Given the description of an element on the screen output the (x, y) to click on. 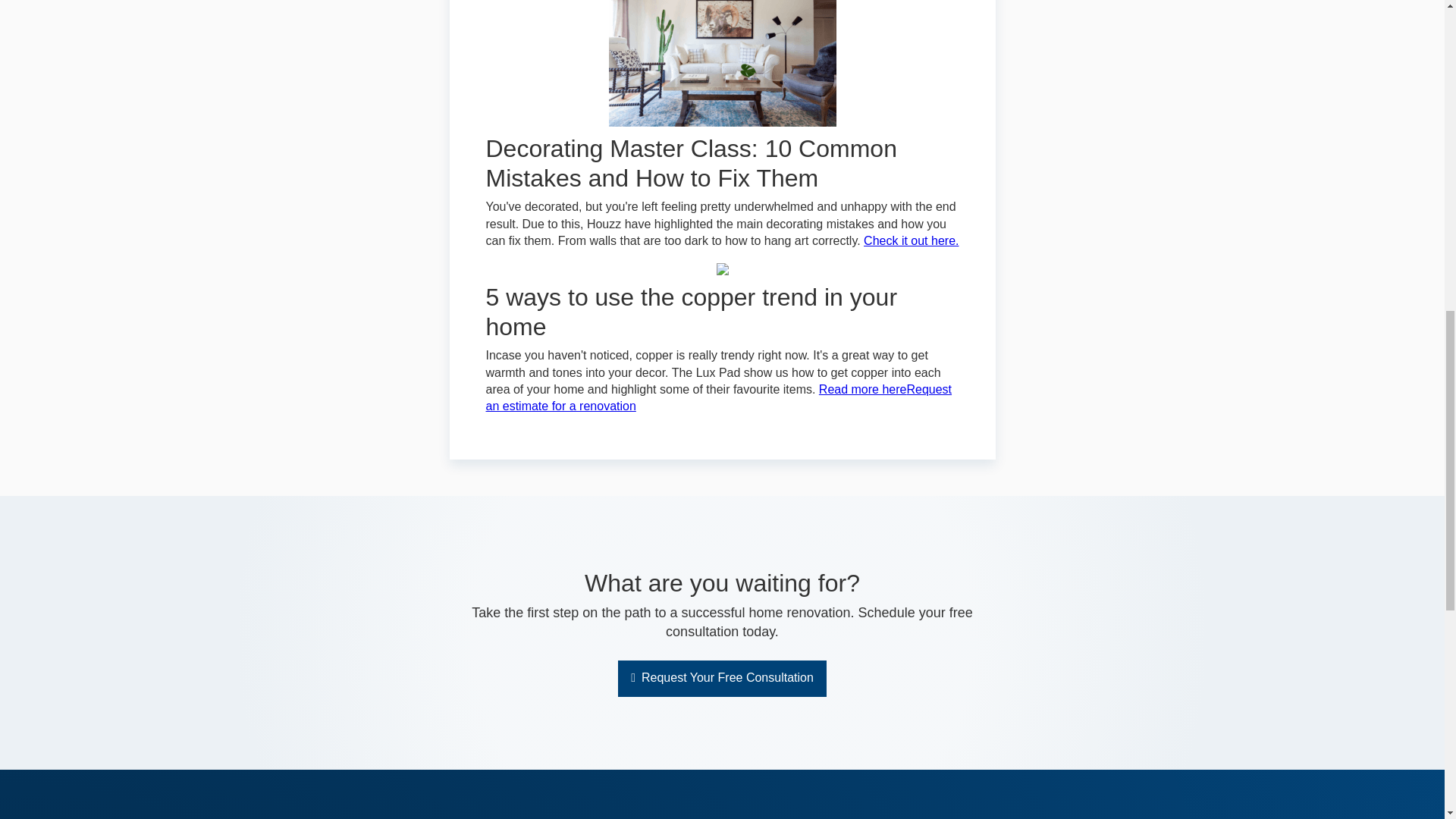
Read more here (862, 389)
Check it out here. (910, 240)
Request an estimate for a renovation (718, 397)
